Given the description of an element on the screen output the (x, y) to click on. 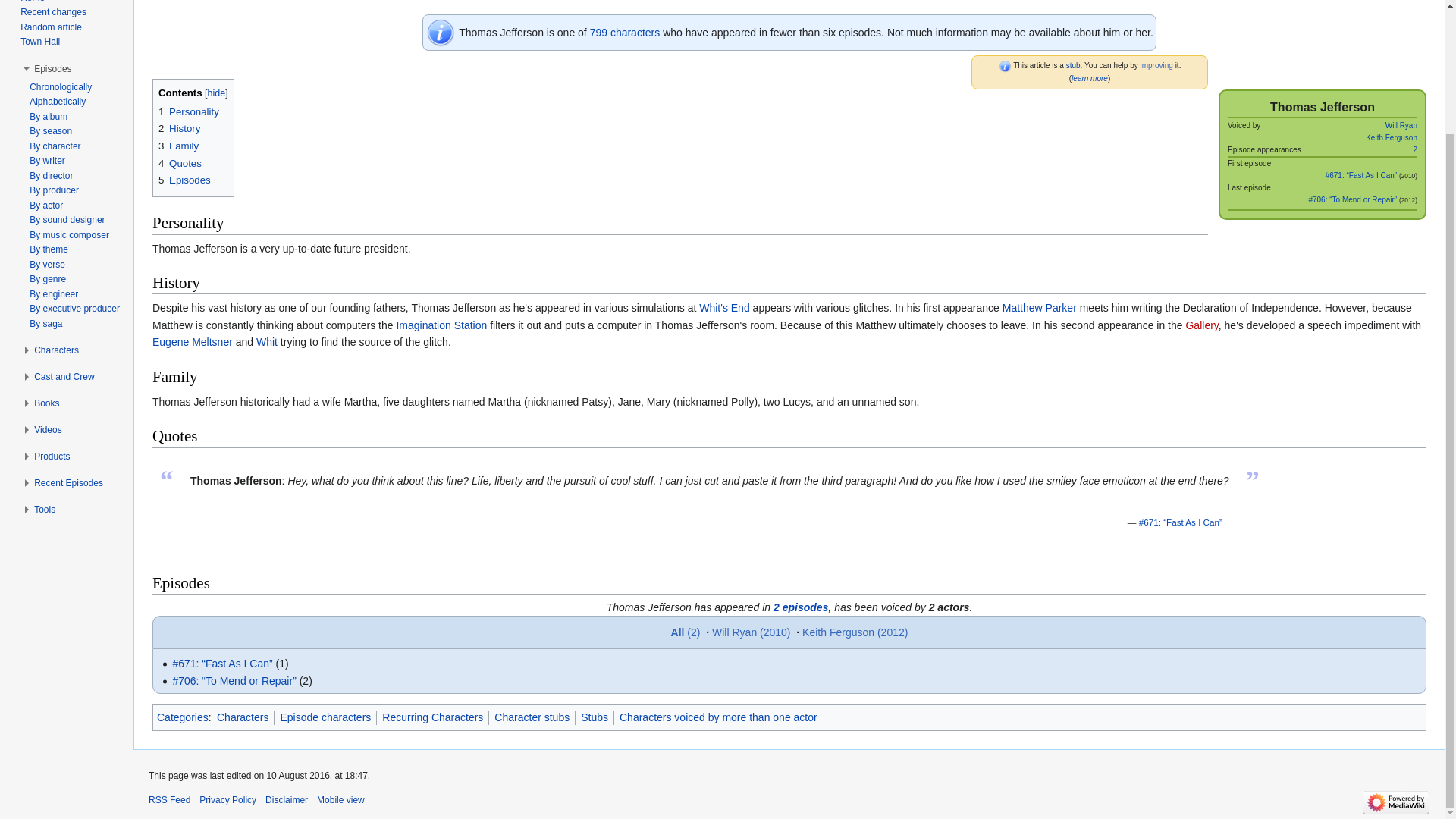
Whit's End (723, 307)
Whit's End (723, 307)
To Mend or Repair (1351, 199)
Episode characters (325, 717)
2 episodes (800, 607)
Keith Ferguson (1390, 137)
Matthew Parker (1040, 307)
Categories (182, 717)
4 Quotes (180, 163)
Category:Recurring Characters (625, 32)
Eugene Meltsner (192, 341)
1 Personality (188, 111)
Recurring Characters (432, 717)
Will Ryan (1401, 125)
